Given the description of an element on the screen output the (x, y) to click on. 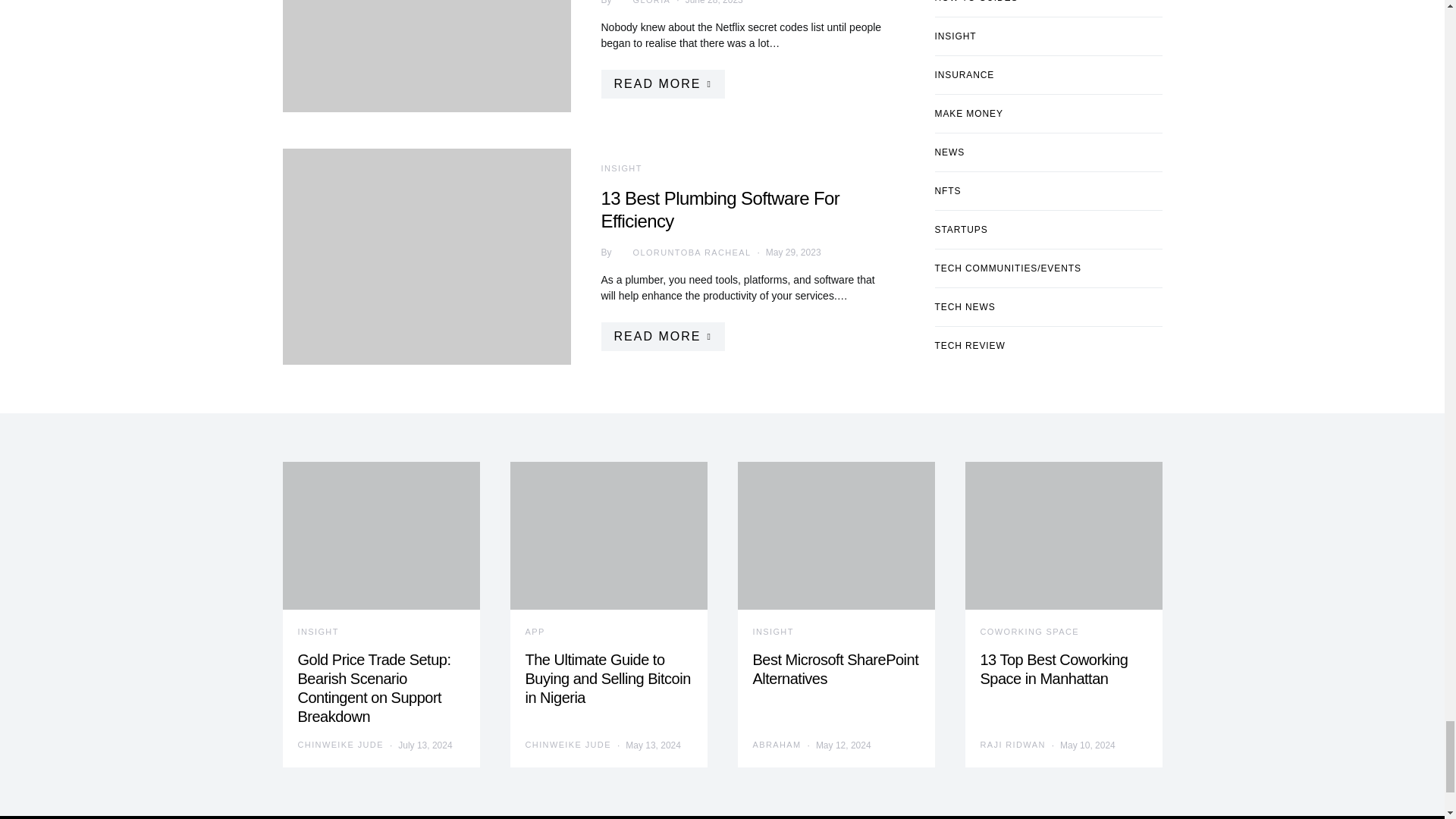
Netflix Secret Codes List: The Best Netflix Codes 7 (426, 56)
View all posts by Gloria (641, 3)
13 Best Plumbing Software For Efficiency 8 (426, 256)
View all posts by Oloruntoba Racheal (681, 252)
